Given the description of an element on the screen output the (x, y) to click on. 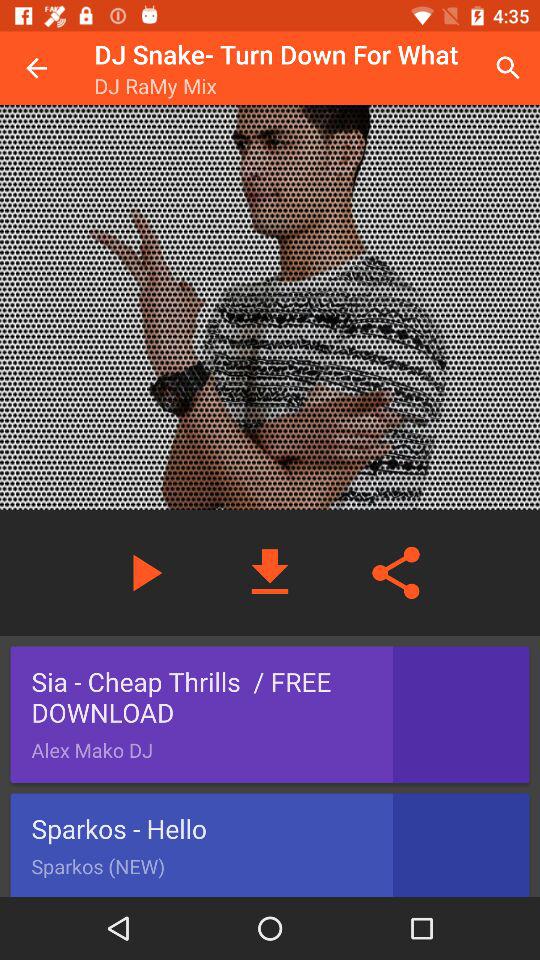
choose icon next to dj snake turn icon (36, 68)
